Given the description of an element on the screen output the (x, y) to click on. 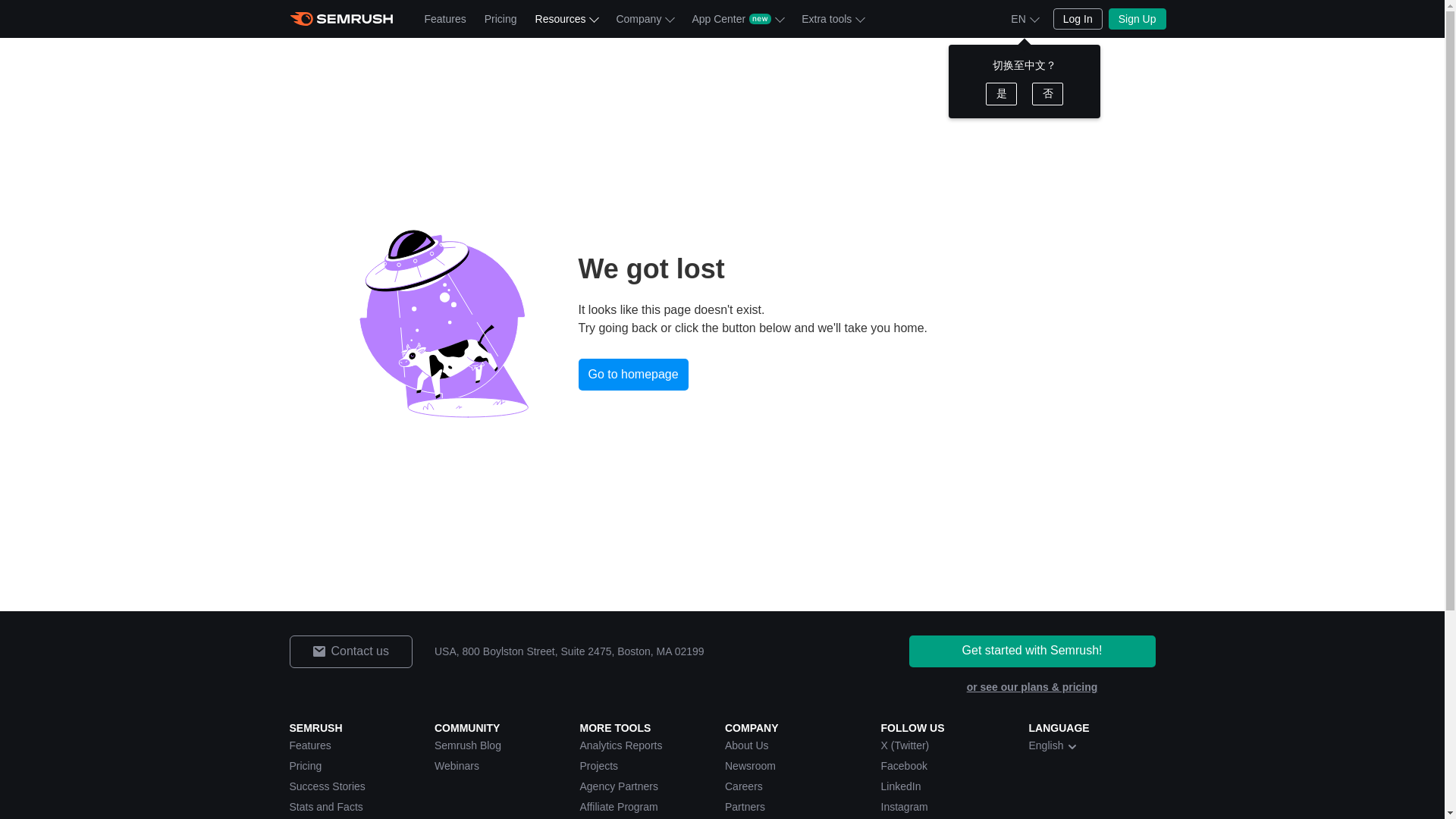
Features (445, 18)
Pricing (500, 18)
App Center (737, 18)
Company (644, 18)
Extra tools (832, 18)
Resources (566, 18)
